Given the description of an element on the screen output the (x, y) to click on. 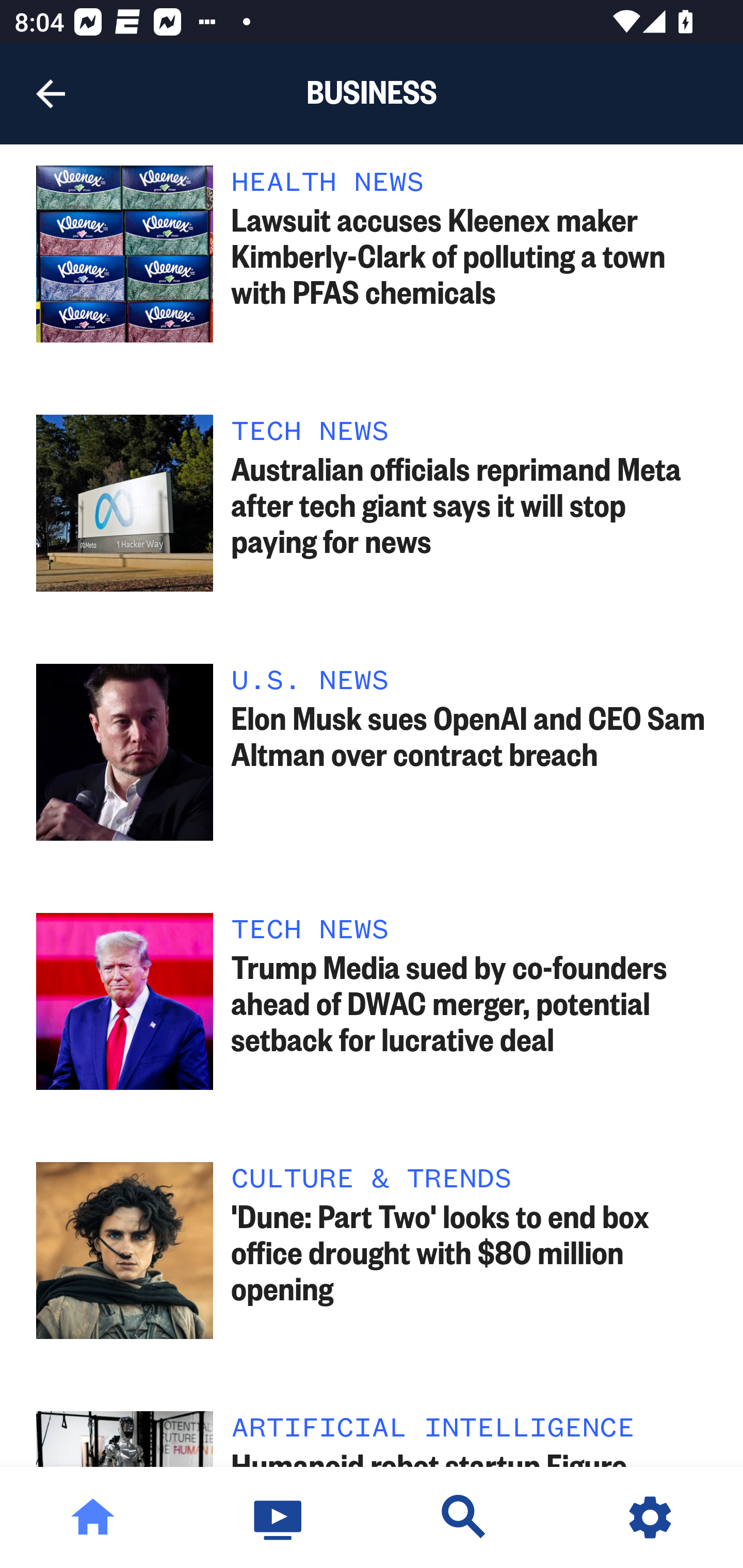
Navigate up (50, 93)
Watch (278, 1517)
Discover (464, 1517)
Settings (650, 1517)
